Given the description of an element on the screen output the (x, y) to click on. 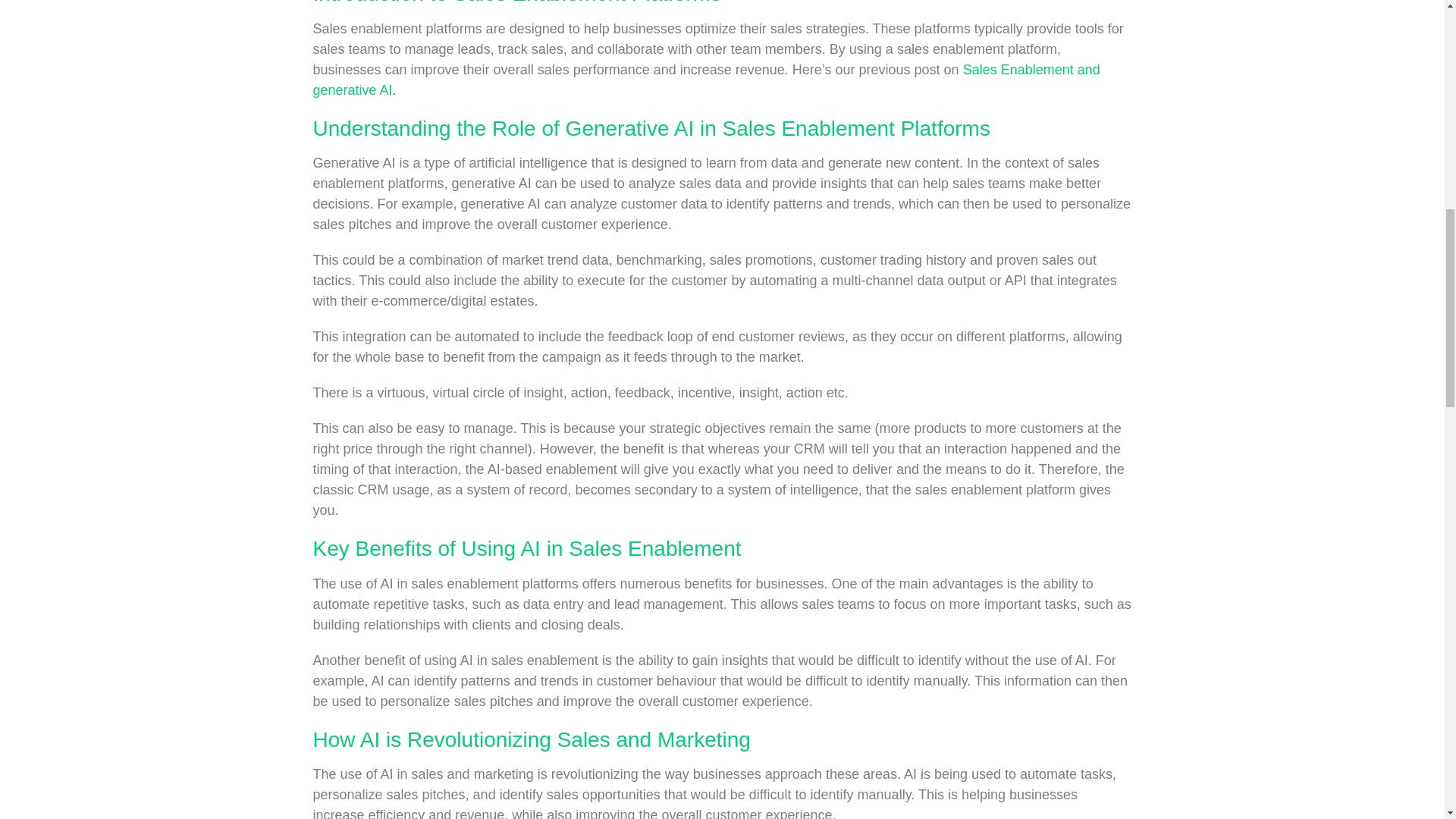
Sales Enablement and generative AI (706, 79)
